Given the description of an element on the screen output the (x, y) to click on. 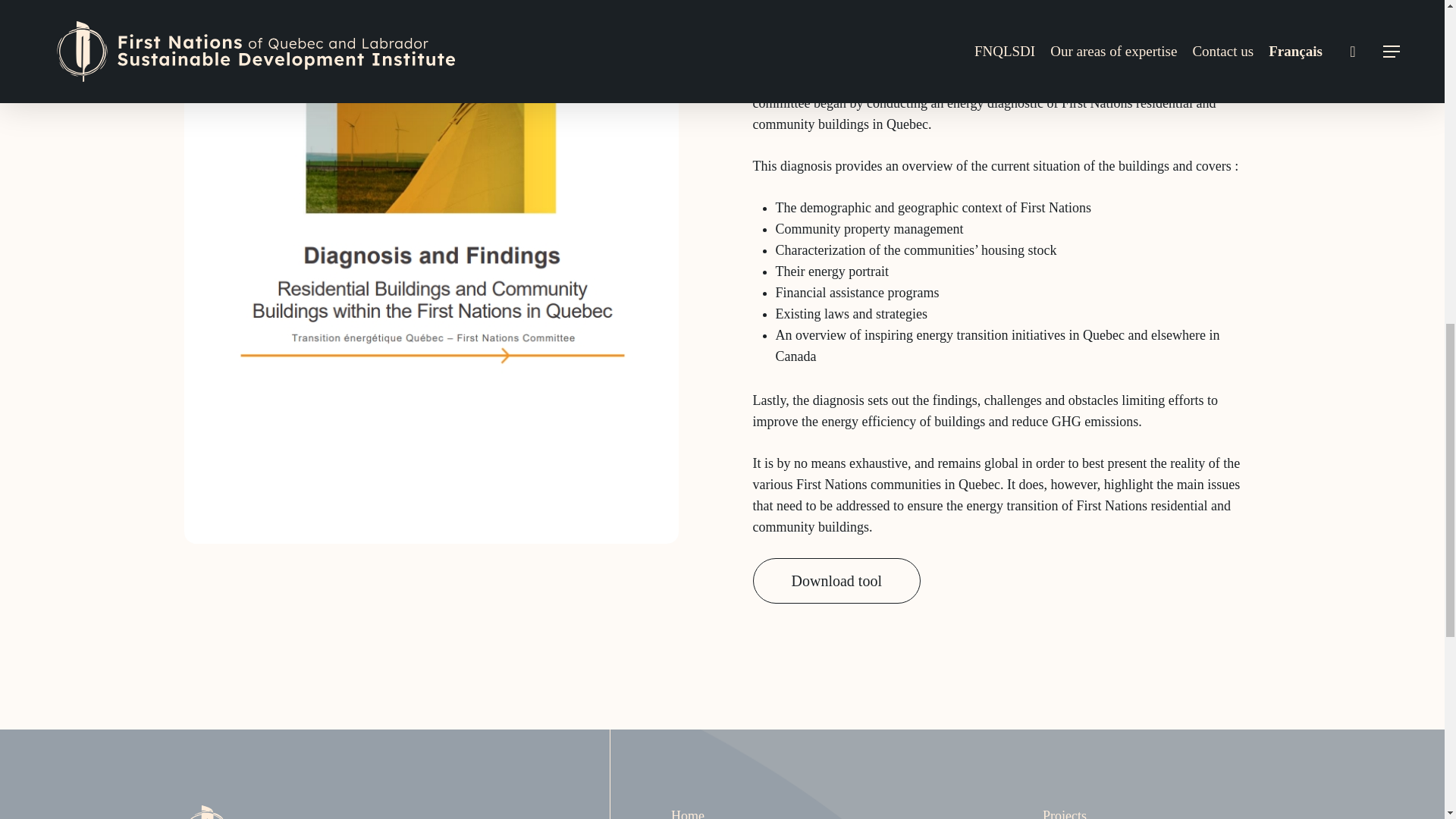
Home (687, 813)
Download tool (836, 580)
Projects (1064, 813)
